Given the description of an element on the screen output the (x, y) to click on. 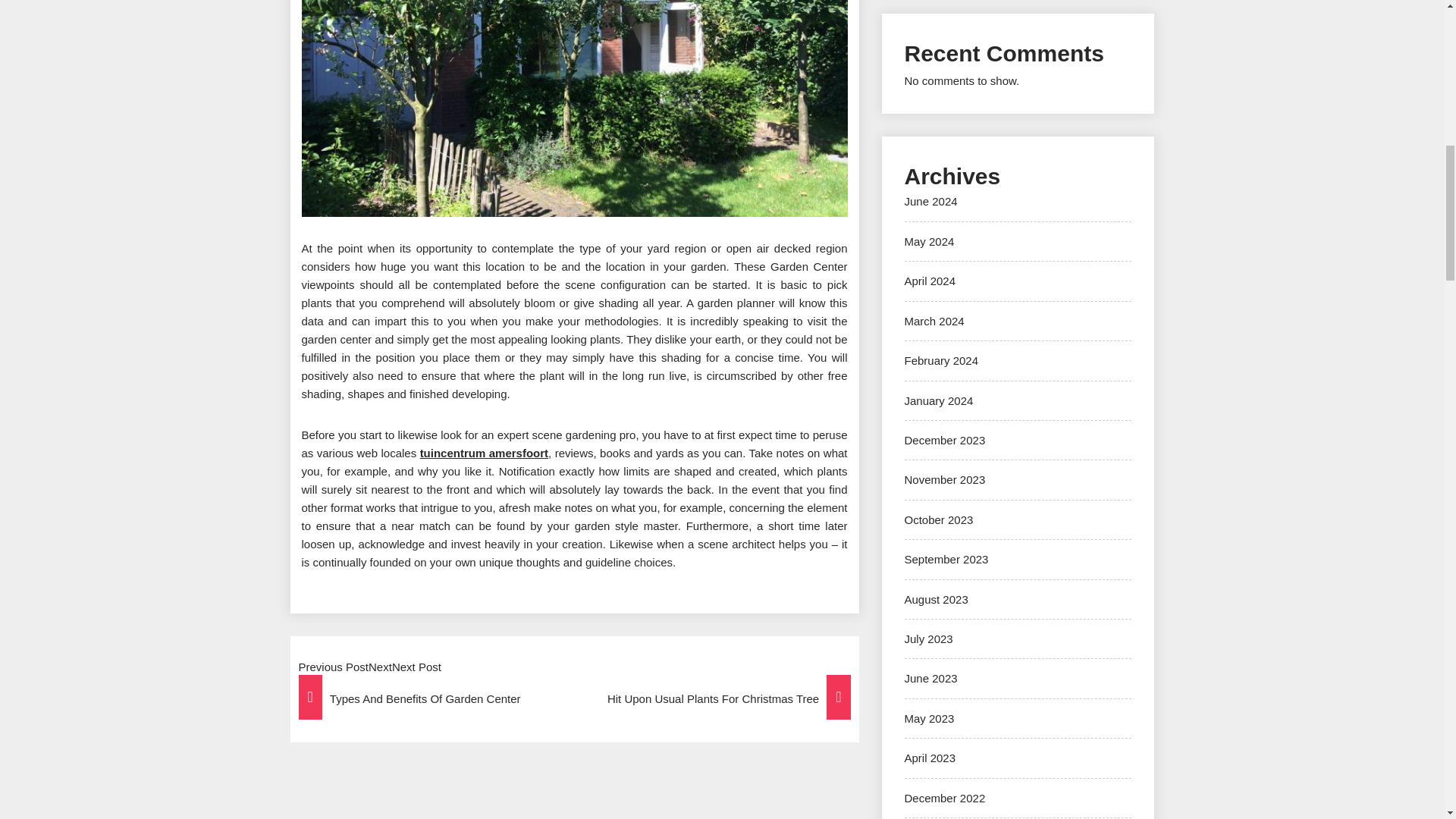
September 2023 (946, 558)
December 2022 (944, 797)
October 2023 (938, 519)
June 2024 (930, 201)
July 2023 (928, 638)
March 2024 (933, 320)
May 2024 (928, 241)
April 2024 (929, 280)
May 2023 (928, 717)
January 2024 (938, 400)
February 2024 (941, 359)
November 2023 (944, 479)
August 2023 (936, 599)
June 2023 (930, 677)
tuincentrum amersfoort (484, 452)
